Given the description of an element on the screen output the (x, y) to click on. 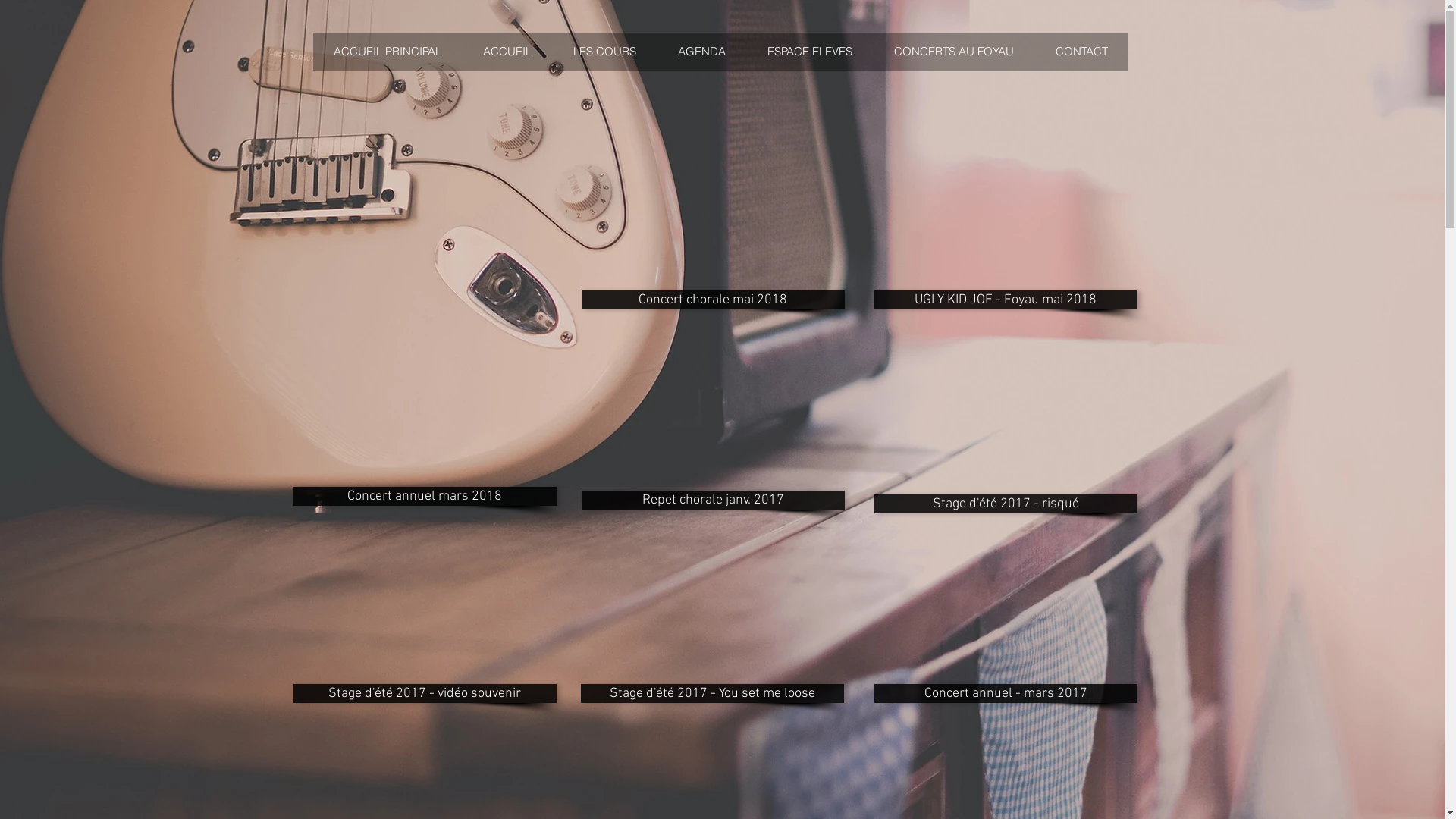
ACCUEIL PRINCIPAL Element type: text (386, 51)
External YouTube Element type: hover (1004, 608)
External Facebook Element type: hover (712, 214)
External YouTube Element type: hover (423, 608)
External YouTube Element type: hover (1004, 214)
External YouTube Element type: hover (423, 410)
CONCERTS AU FOYAU Element type: text (952, 51)
External YouTube Element type: hover (1004, 423)
External YouTube Element type: hover (712, 608)
External YouTube Element type: hover (712, 414)
